Given the description of an element on the screen output the (x, y) to click on. 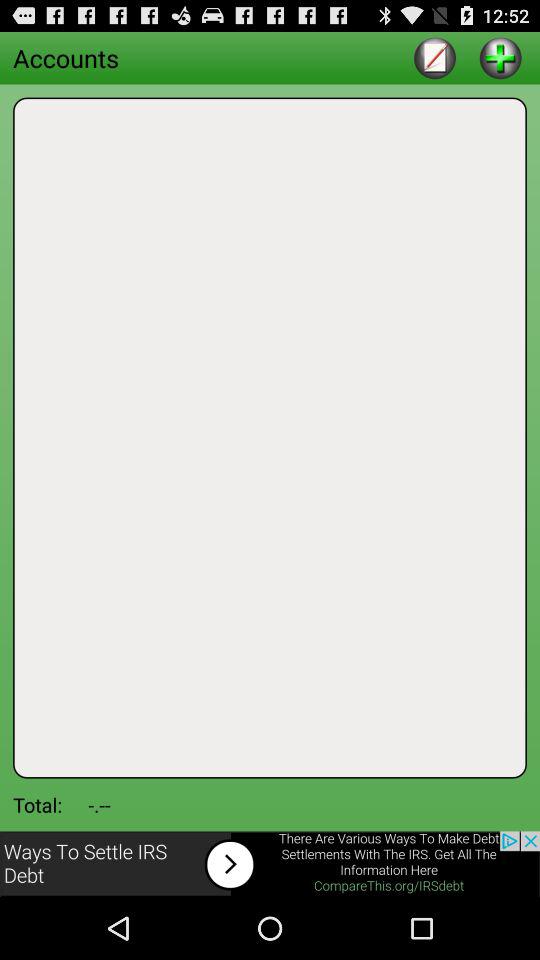
no idea (500, 57)
